Given the description of an element on the screen output the (x, y) to click on. 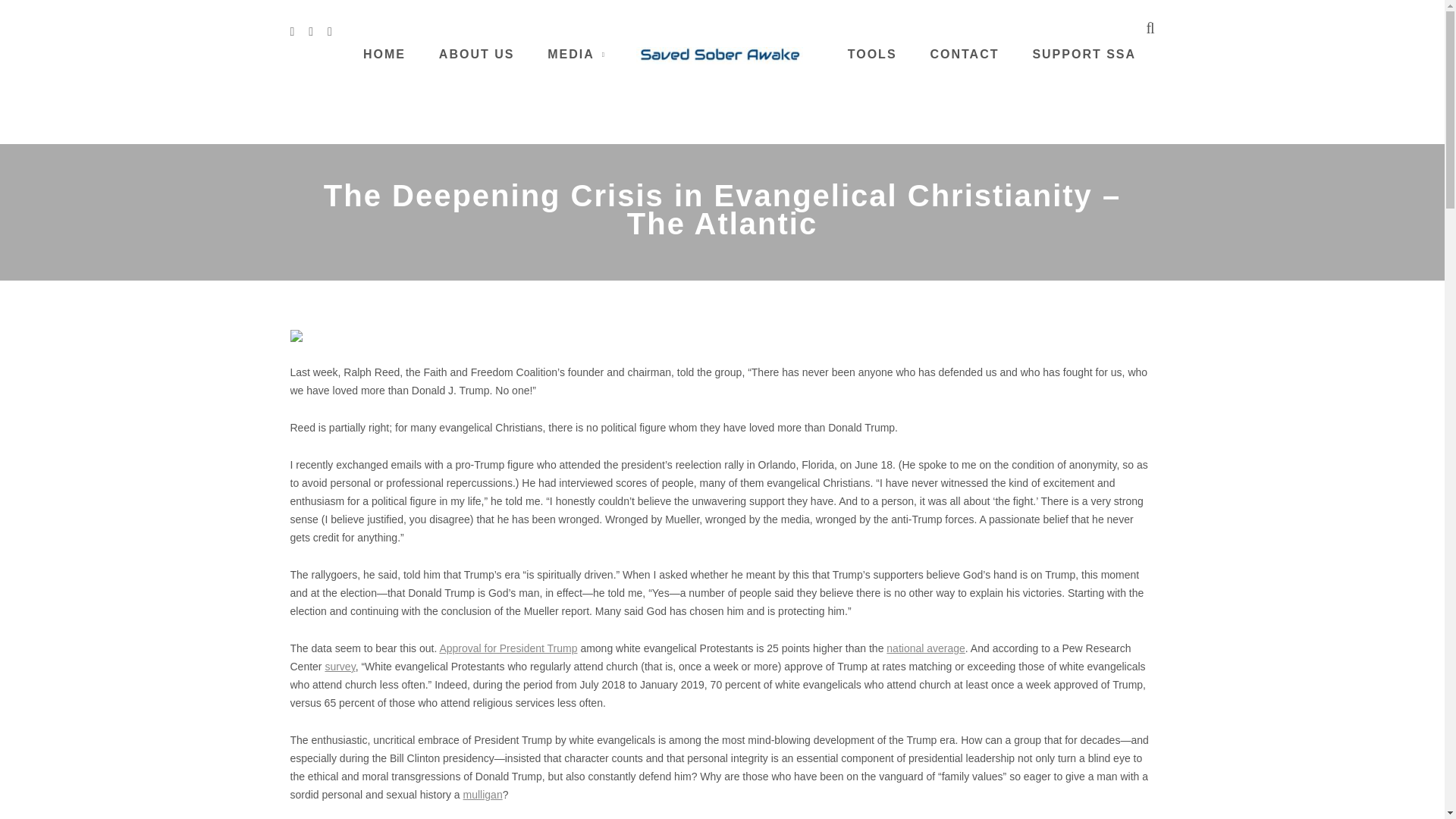
CONTACT (964, 53)
HOME (384, 53)
MEDIA (570, 53)
mulligan (482, 794)
Approval for President Trump (507, 648)
survey (339, 666)
SUPPORT SSA (1083, 53)
ABOUT US (477, 53)
TOOLS (871, 53)
national average (925, 648)
